Given the description of an element on the screen output the (x, y) to click on. 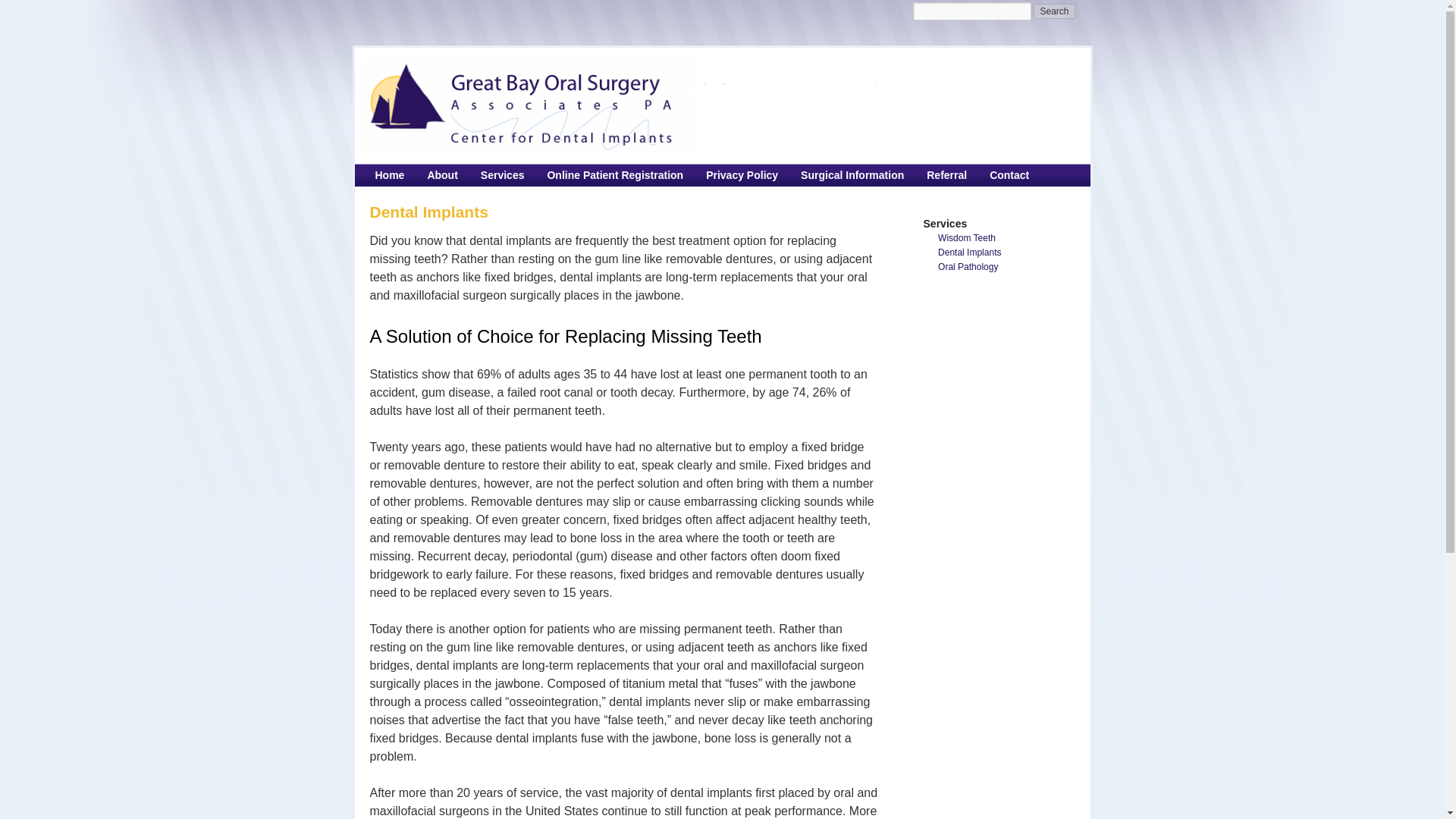
Privacy Policy (741, 174)
Home (390, 174)
Services (501, 174)
Surgical Information (852, 174)
About (441, 174)
Search (1053, 11)
Dental Implants (1010, 252)
Online Patient Registration (614, 174)
Contact (1009, 174)
Wisdom Teeth (1010, 237)
Referral (946, 174)
Search (1053, 11)
Oral Pathology (1010, 266)
